Given the description of an element on the screen output the (x, y) to click on. 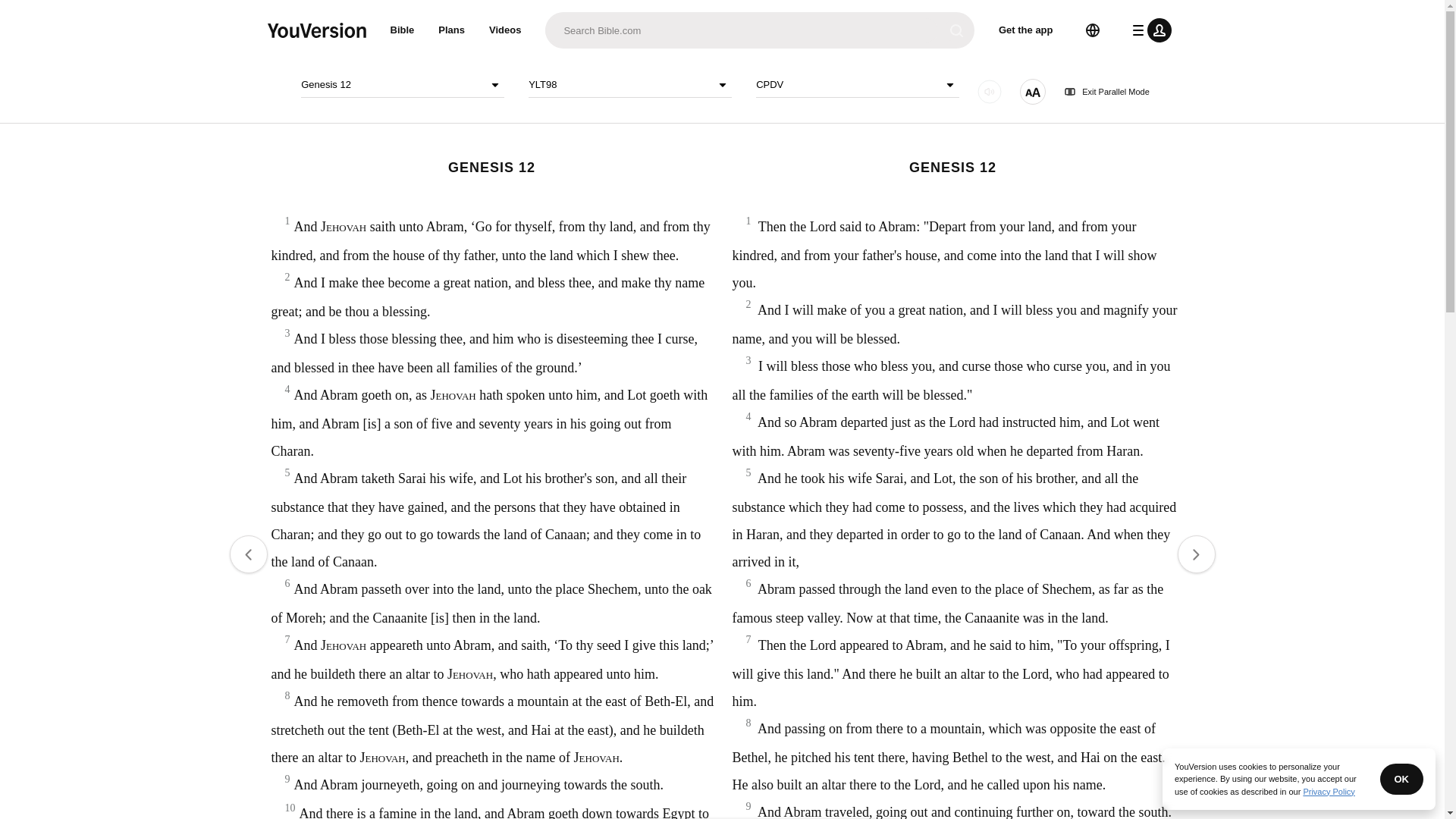
Plans (451, 29)
Bible (401, 29)
CPDV (857, 84)
Videos (504, 29)
Get the app (1026, 29)
Genesis 12 (402, 84)
YLT98 (630, 84)
Exit Parallel Mode (1107, 91)
